Given the description of an element on the screen output the (x, y) to click on. 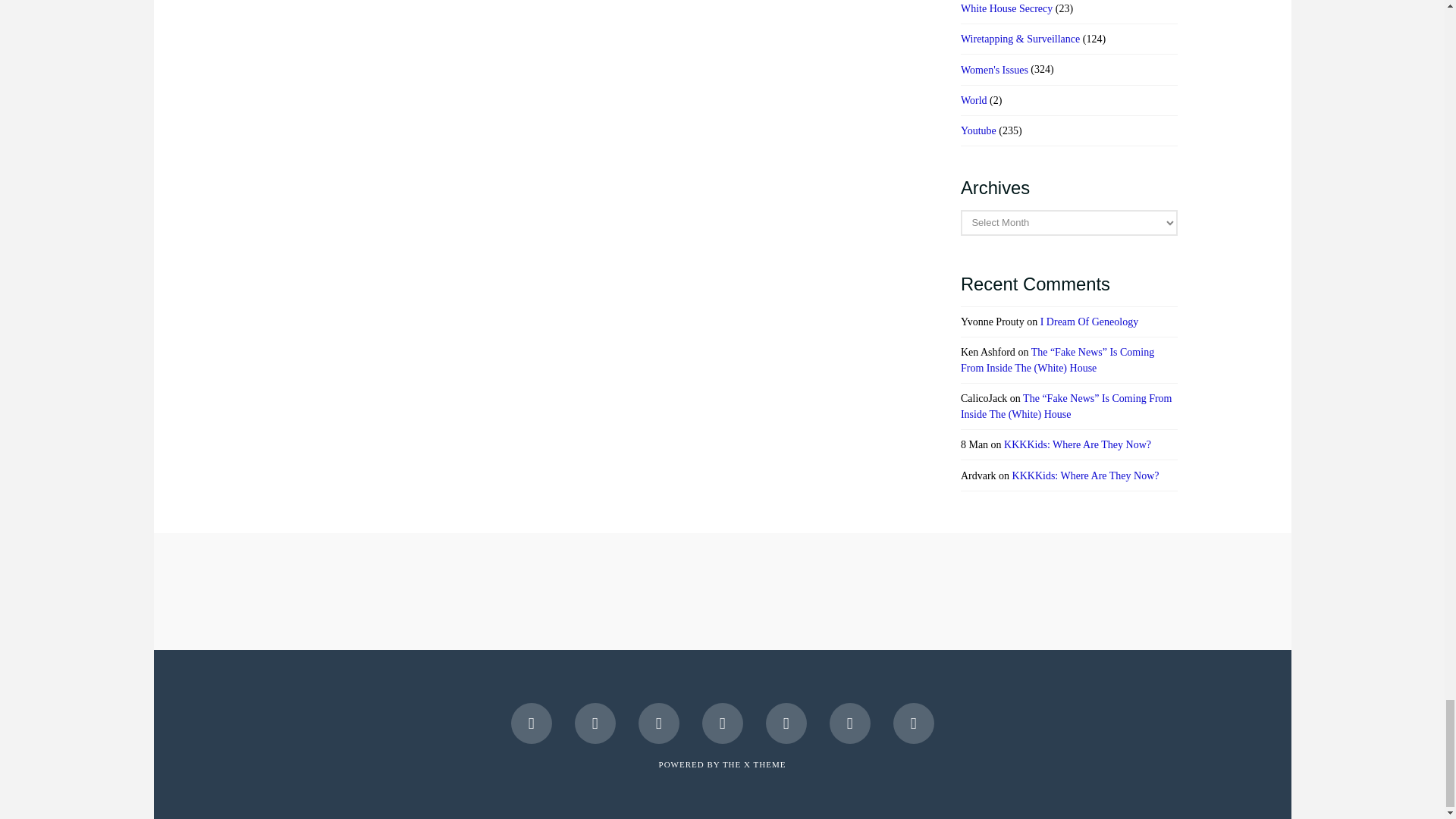
RSS (913, 722)
LinkedIn (721, 722)
Dribbble (849, 722)
Twitter (595, 722)
Facebook (531, 722)
Pinterest (785, 722)
